Given the description of an element on the screen output the (x, y) to click on. 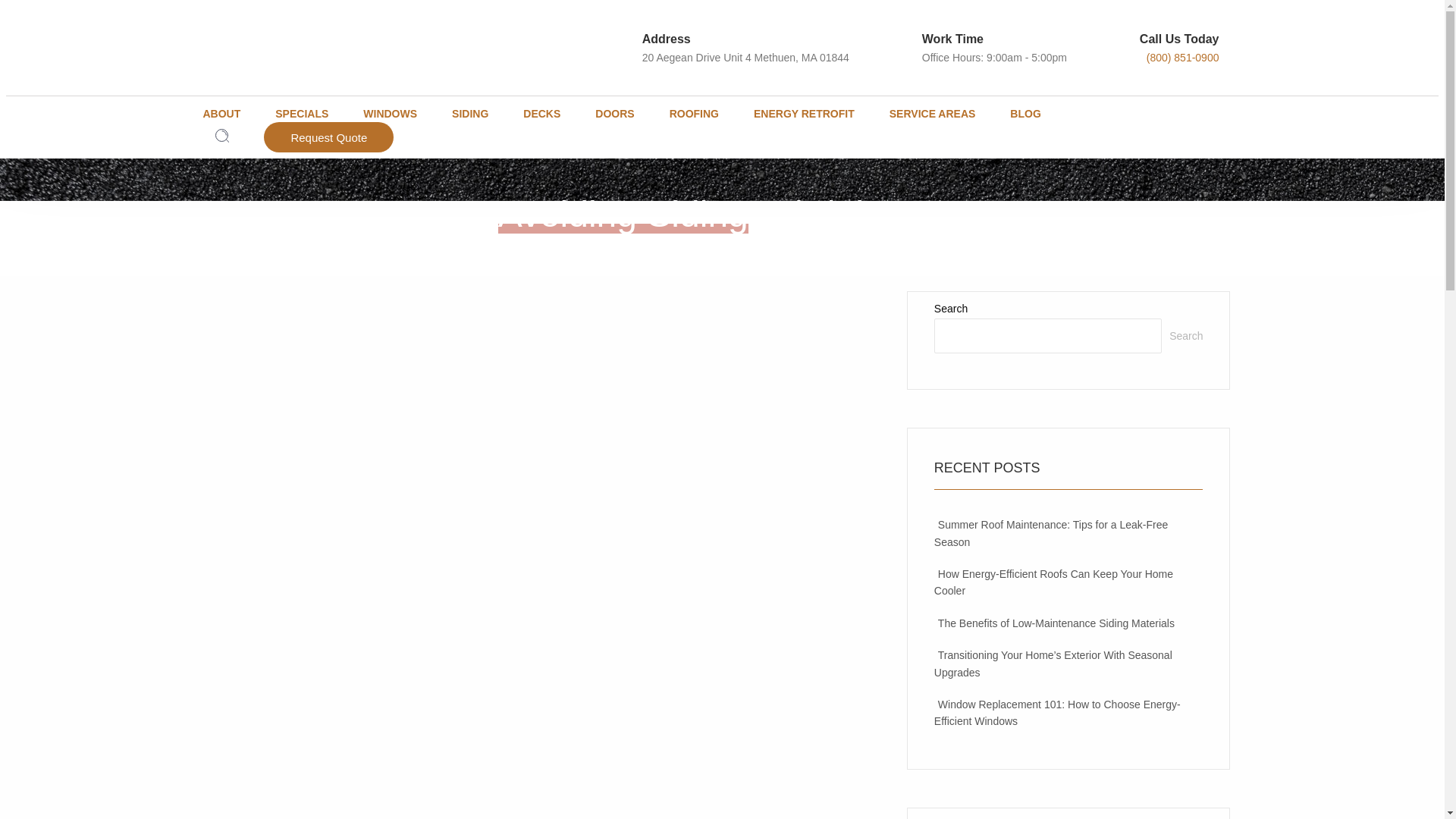
SPECIALS (310, 113)
ABOUT (235, 113)
DOORS (623, 113)
DECKS (550, 113)
ROOFING (703, 113)
SIDING (479, 113)
WINDOWS (399, 113)
